Given the description of an element on the screen output the (x, y) to click on. 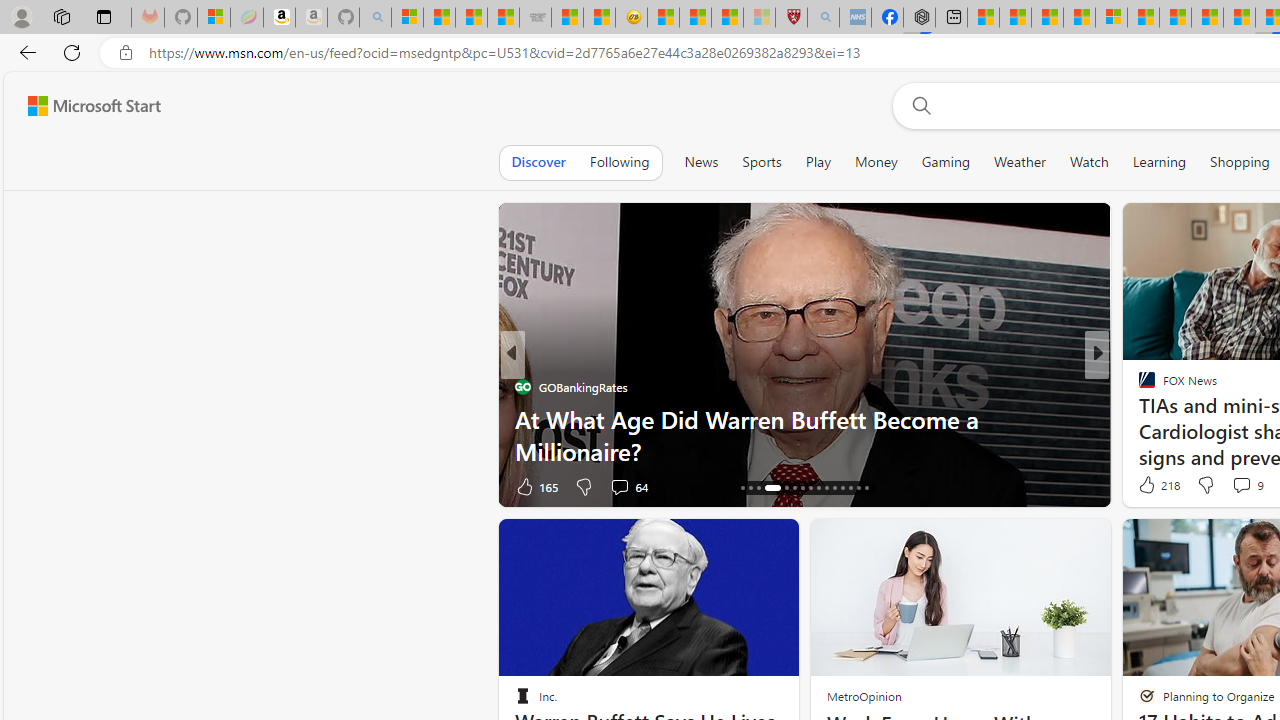
View comments 23 Comment (1244, 486)
ABC News (1138, 386)
